Given the description of an element on the screen output the (x, y) to click on. 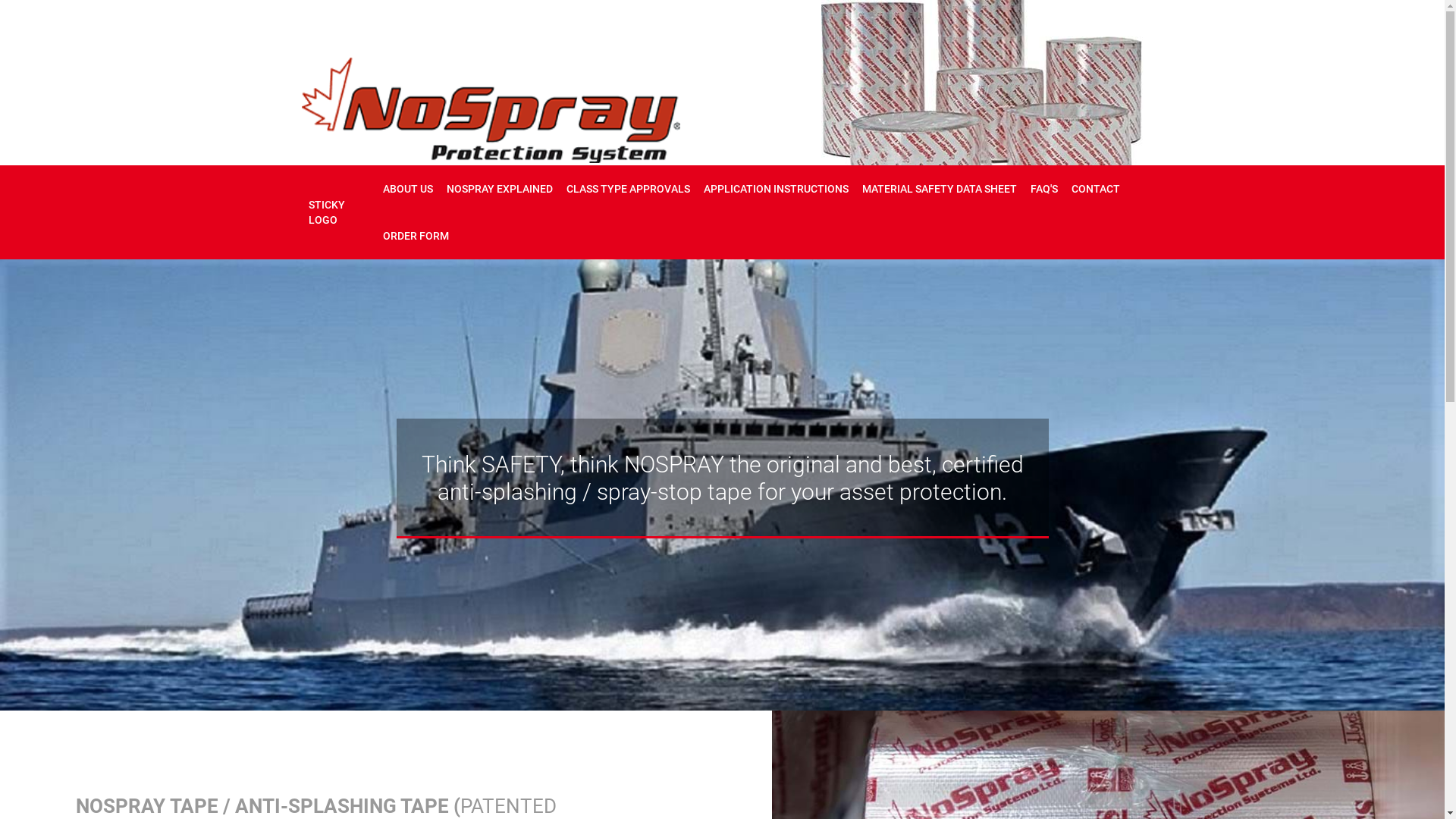
FAQ'S Element type: text (1043, 188)
MATERIAL SAFETY DATA SHEET Element type: text (939, 188)
CONTACT Element type: text (1095, 188)
CLASS TYPE APPROVALS Element type: text (627, 188)
APPLICATION INSTRUCTIONS Element type: text (775, 188)
ORDER FORM Element type: text (415, 235)
ABOUT US Element type: text (407, 188)
NOSPRAY EXPLAINED Element type: text (499, 188)
STICKY LOGO Element type: text (338, 212)
